Given the description of an element on the screen output the (x, y) to click on. 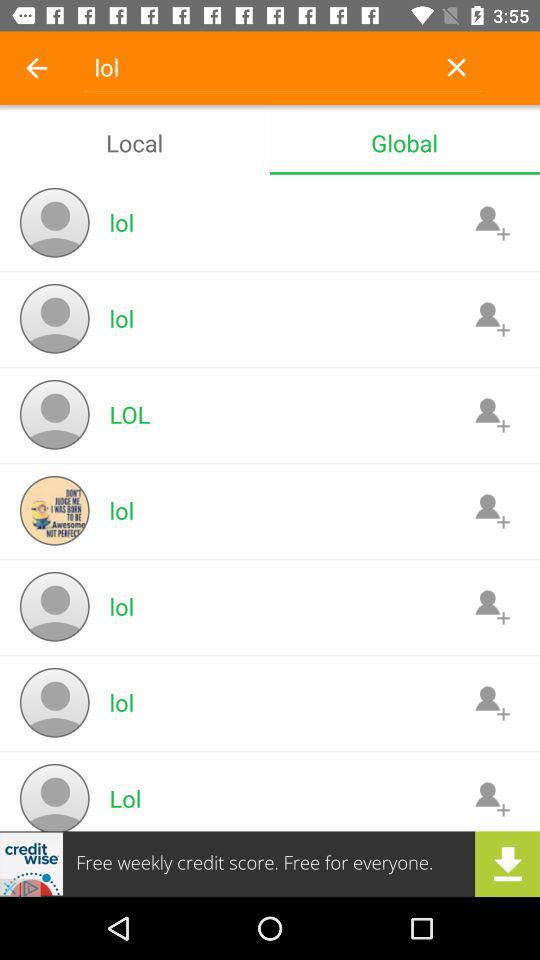
add friend (492, 702)
